Given the description of an element on the screen output the (x, y) to click on. 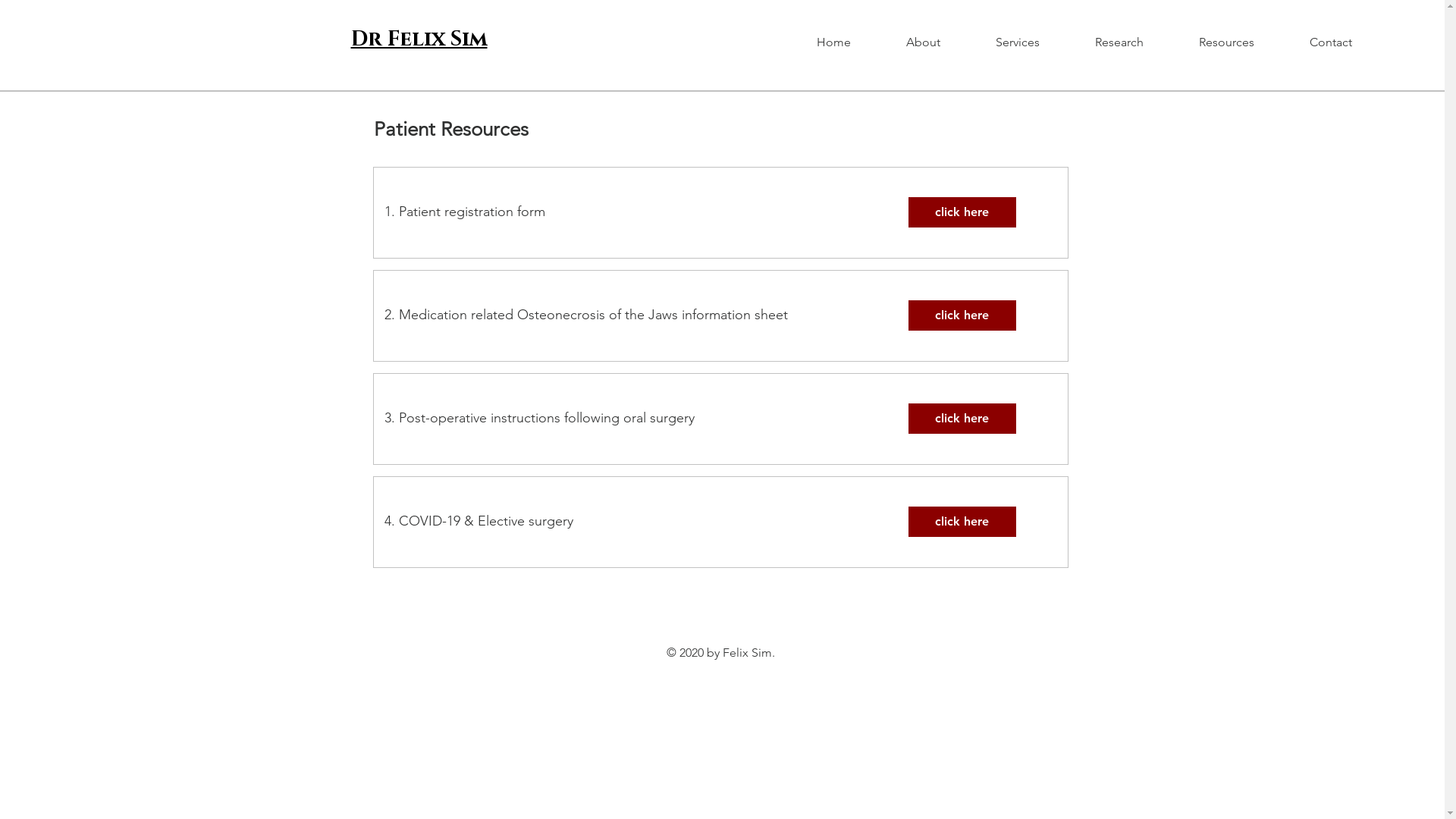
Contact Element type: text (1346, 42)
Home Element type: text (849, 42)
click here Element type: text (962, 521)
Research Element type: text (1135, 42)
click here Element type: text (962, 212)
click here Element type: text (962, 315)
Services Element type: text (1033, 42)
click here Element type: text (962, 418)
About Element type: text (939, 42)
Dr Felix Sim Element type: text (418, 39)
